Given the description of an element on the screen output the (x, y) to click on. 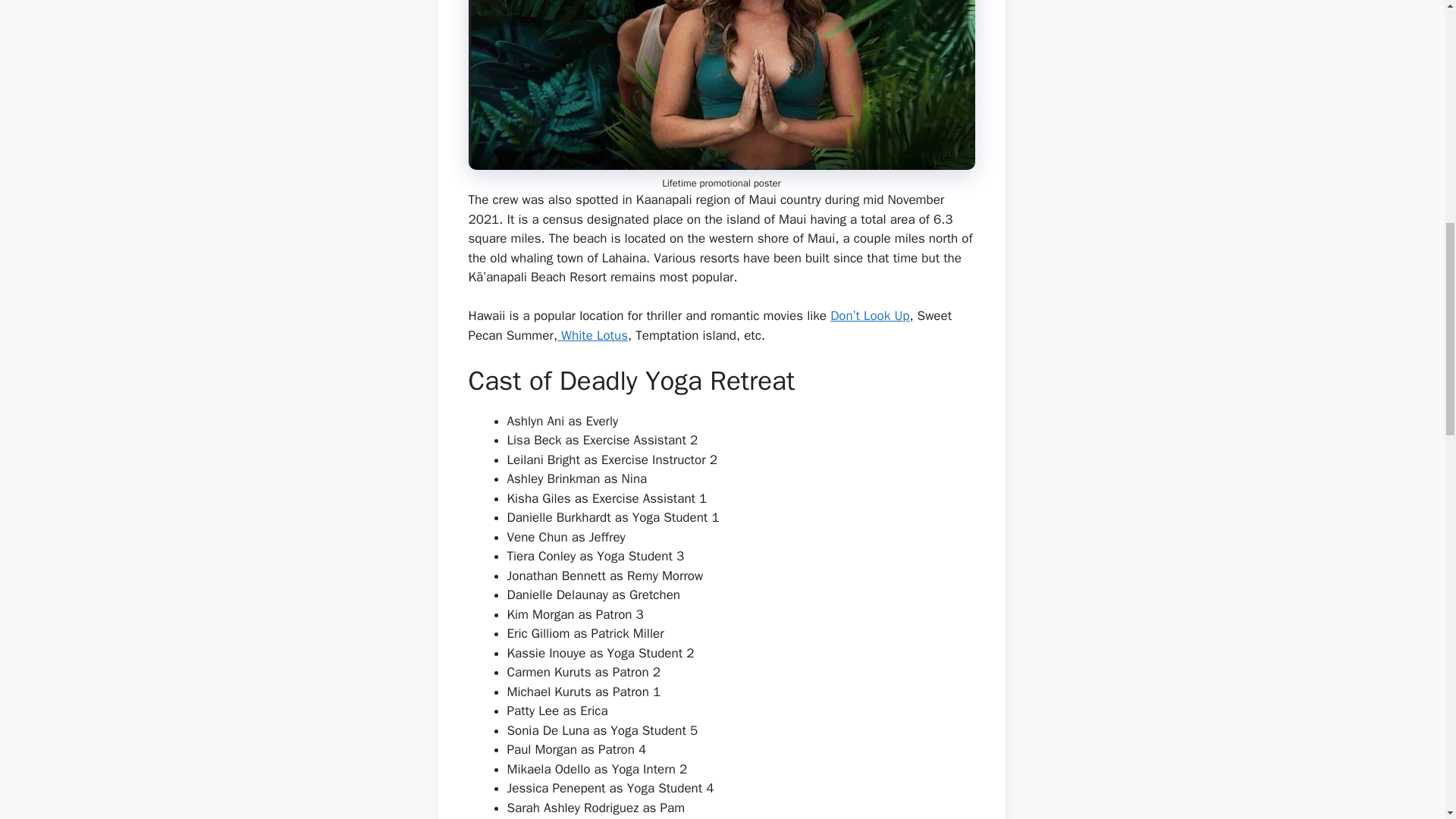
White Lotus (592, 335)
